Given the description of an element on the screen output the (x, y) to click on. 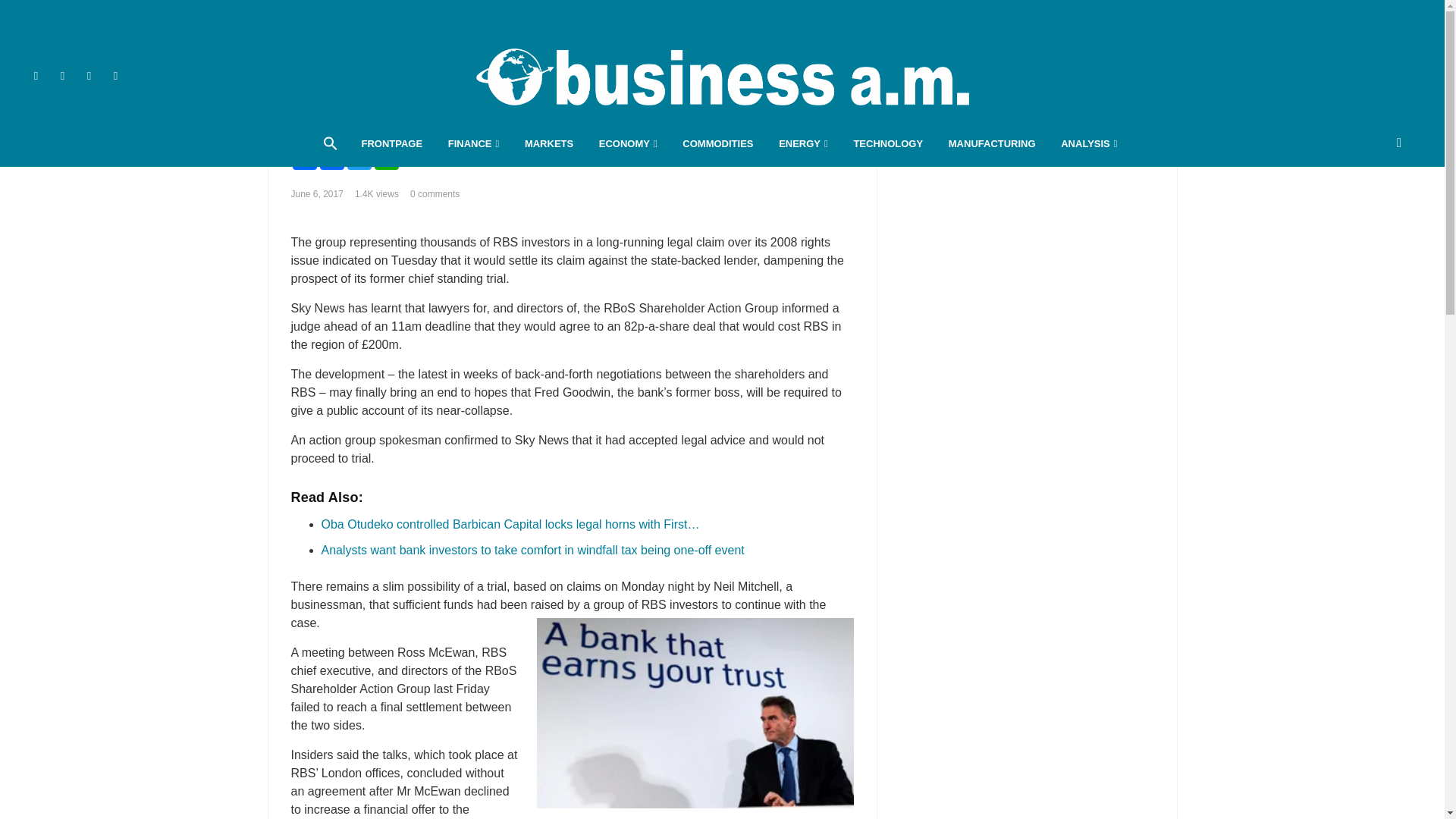
Businessamlive (722, 76)
FRONTPAGE (391, 144)
FINANCE (473, 144)
